Given the description of an element on the screen output the (x, y) to click on. 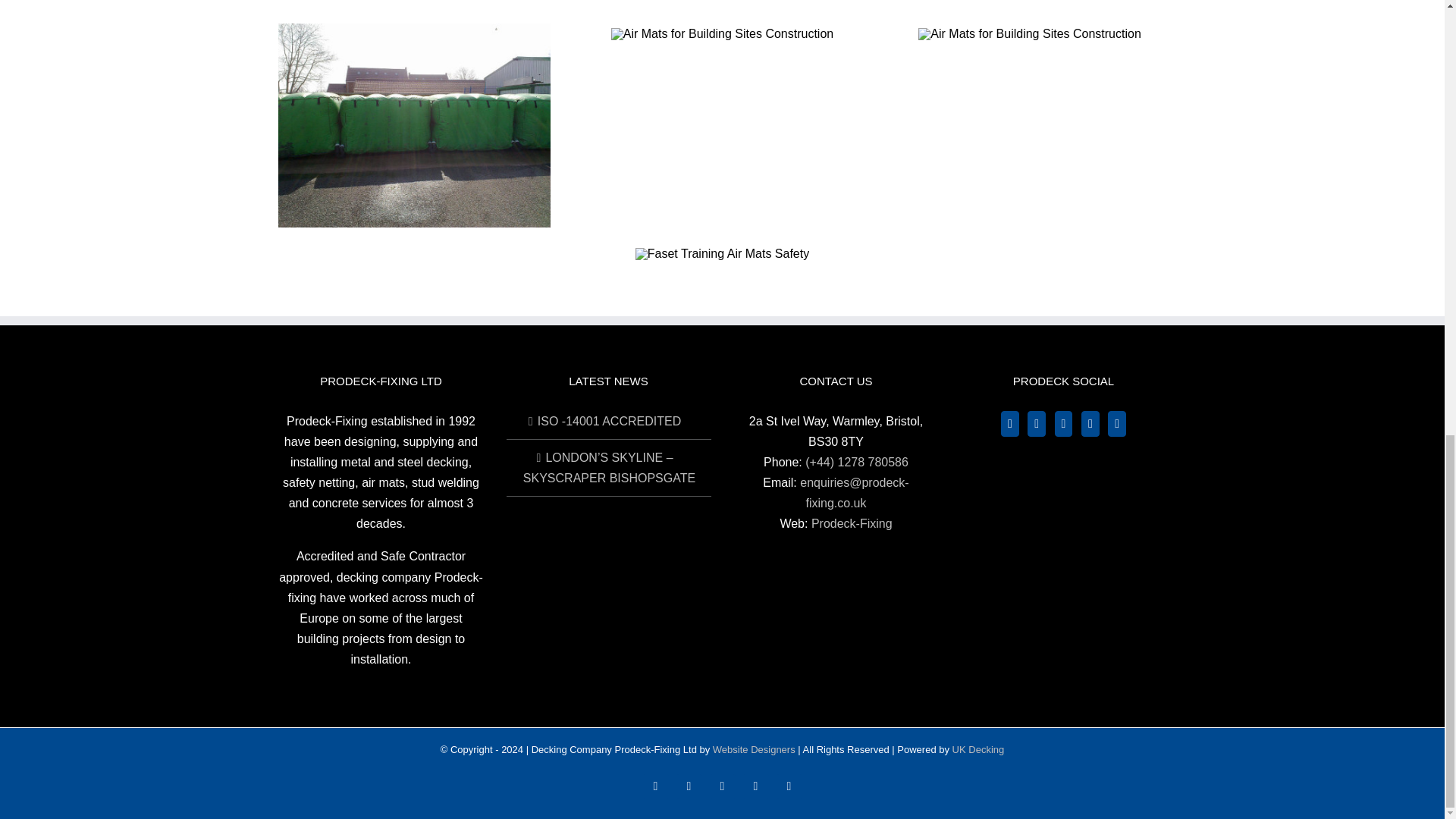
Faset Training Air Mats Safety (721, 254)
Construction Loading Safety Air Mats (414, 125)
Air Mats for Building Sites Construction FASET (1029, 33)
Construction Air Mats for Building Sites Construction (721, 33)
